Given the description of an element on the screen output the (x, y) to click on. 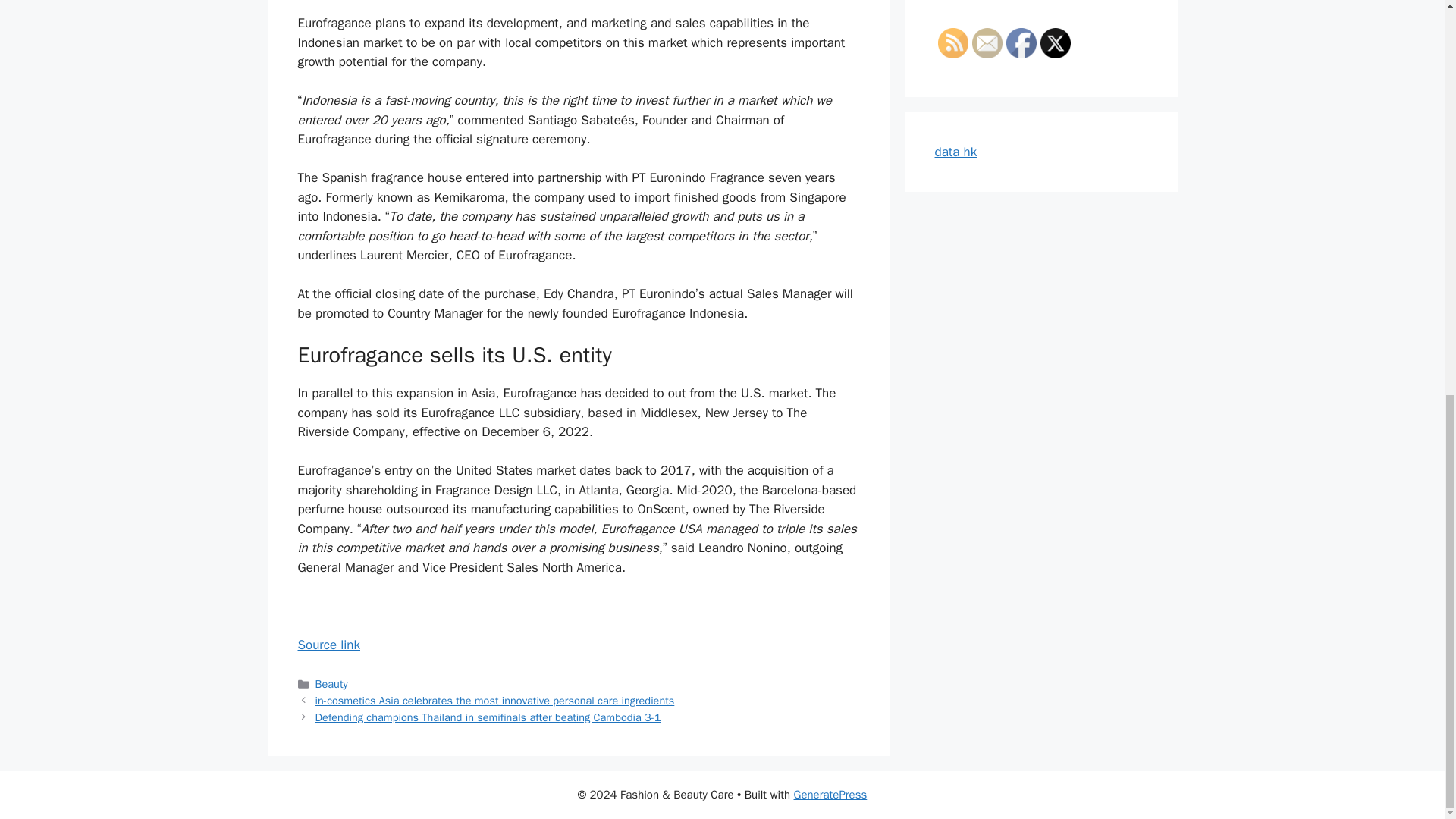
Follow by Email (987, 42)
Facebook (1020, 42)
RSS (952, 42)
Beauty (331, 684)
Source link (328, 644)
Twitter (1055, 42)
